Given the description of an element on the screen output the (x, y) to click on. 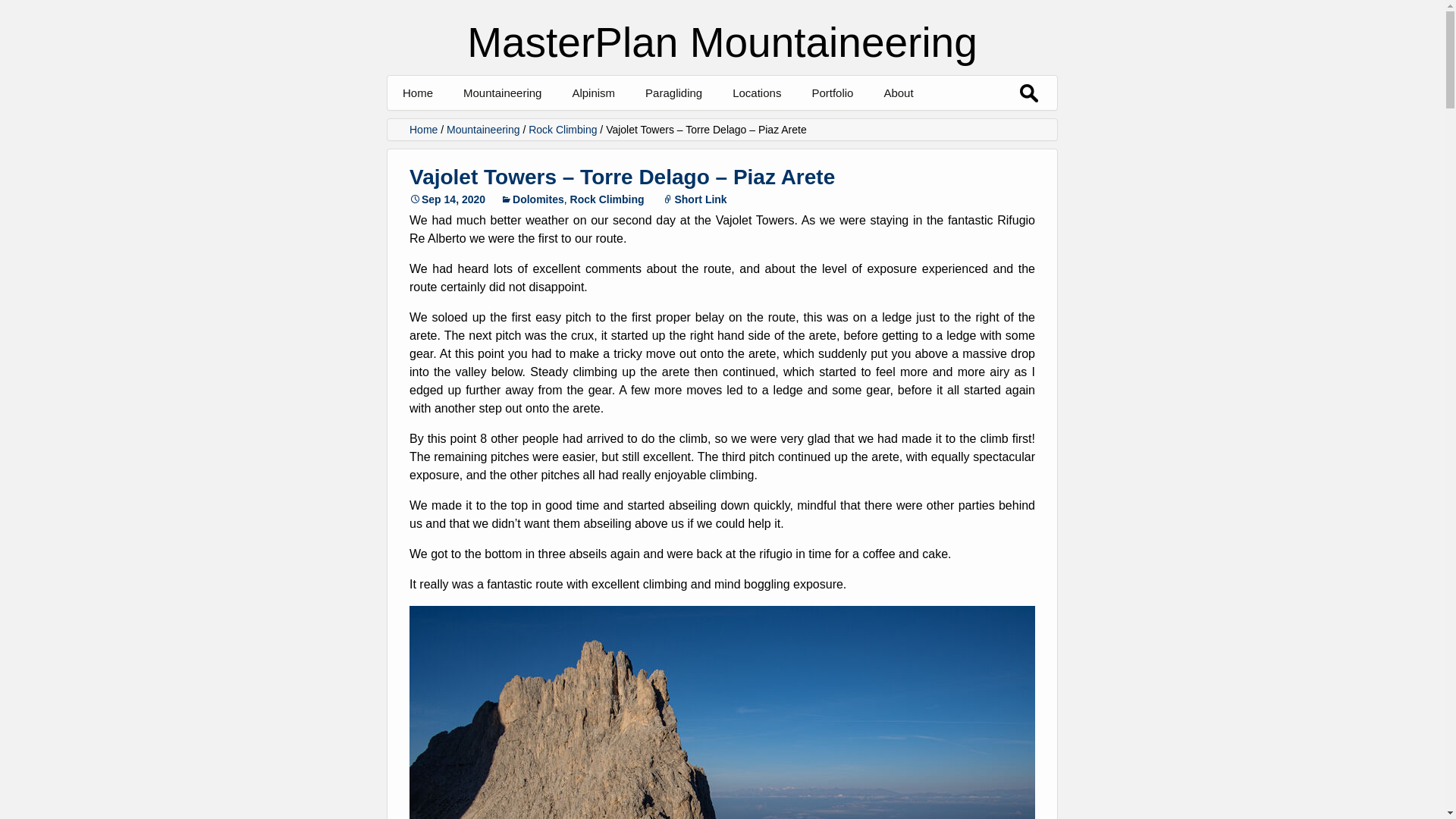
Locations (756, 92)
North Wales (808, 126)
Mountaineering (502, 92)
Home (417, 92)
Blog (647, 126)
Portfolio (831, 92)
About (958, 126)
About (897, 92)
Climbing-Alpine (887, 126)
Paragliding (673, 92)
Alpinism (593, 92)
All (539, 126)
